Given the description of an element on the screen output the (x, y) to click on. 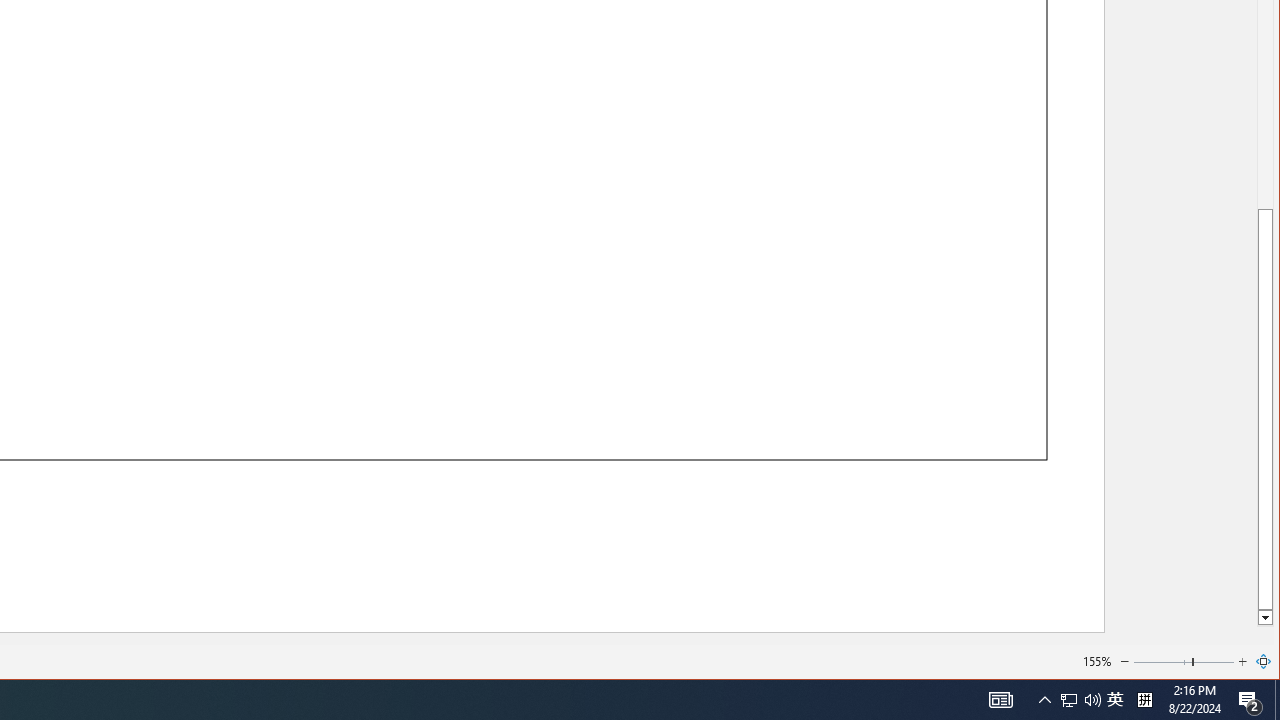
155% (1096, 660)
Page right (1214, 661)
